Given the description of an element on the screen output the (x, y) to click on. 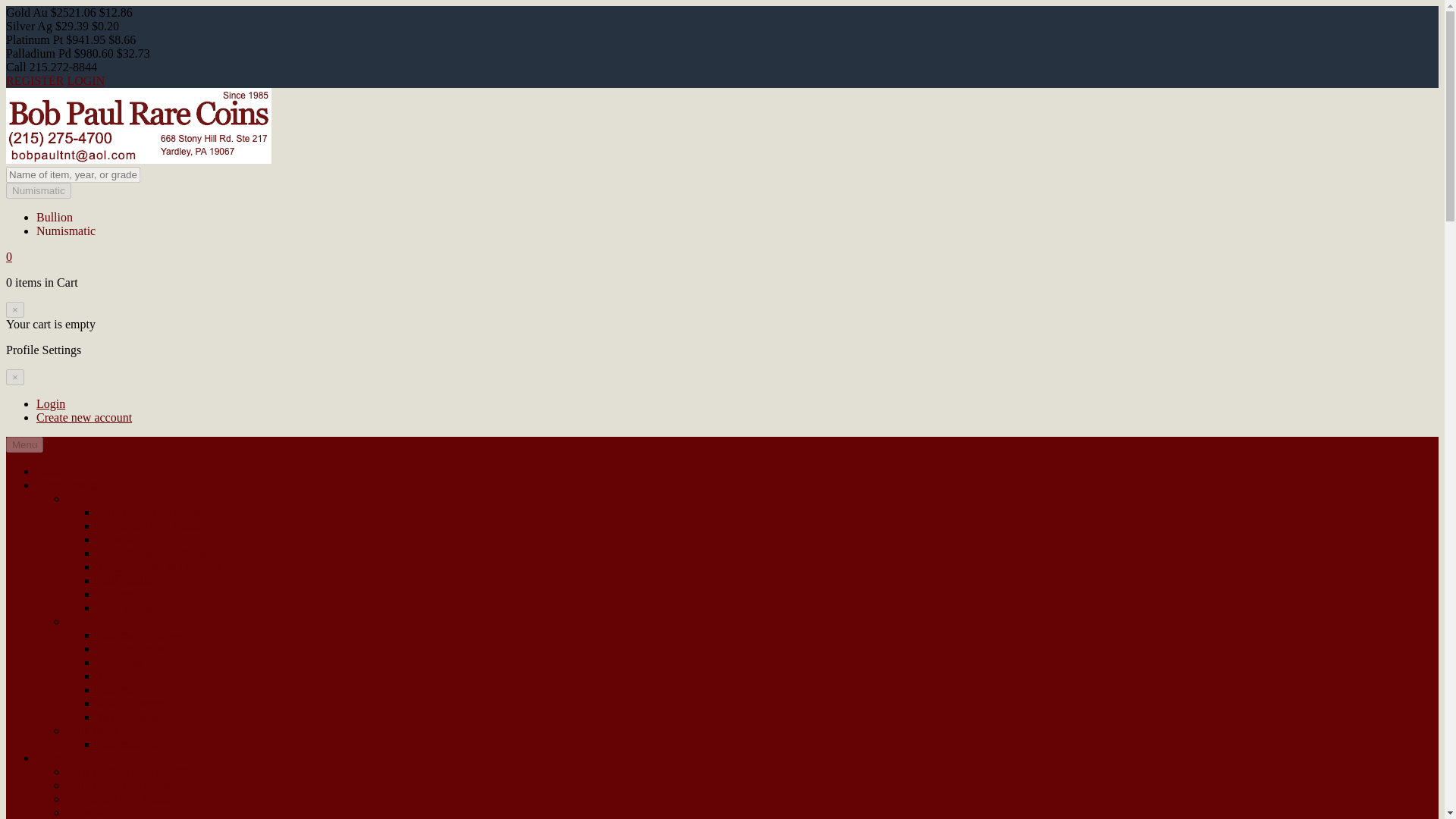
Bullion (54, 216)
Bulk items (92, 730)
Individual (91, 498)
Login (50, 403)
Bullion Coins (130, 648)
Half Dollars (127, 580)
Two and Three Cents (118, 798)
Patterns (116, 689)
Numismatic (38, 190)
Commemoratives (140, 634)
